Given the description of an element on the screen output the (x, y) to click on. 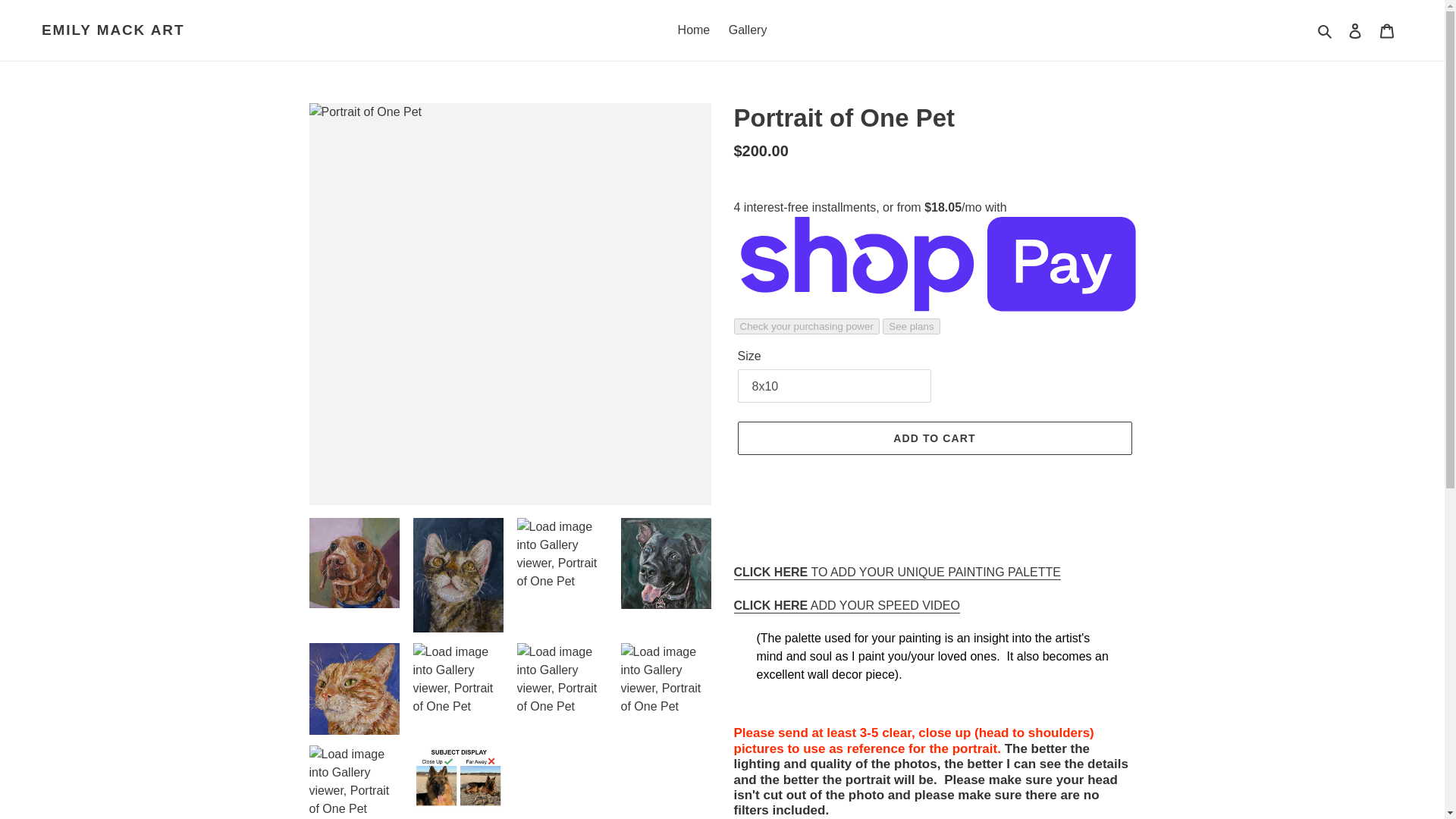
Speed Video (846, 605)
Home (693, 29)
Unique Palette (897, 572)
Cart (1387, 29)
Search (1326, 30)
ADD TO CART (933, 438)
Gallery (747, 29)
CLICK HERE ADD YOUR SPEED VIDEO (846, 605)
CLICK HERE TO ADD YOUR UNIQUE PAINTING PALETTE (897, 572)
EMILY MACK ART (113, 30)
Log in (1355, 29)
